Given the description of an element on the screen output the (x, y) to click on. 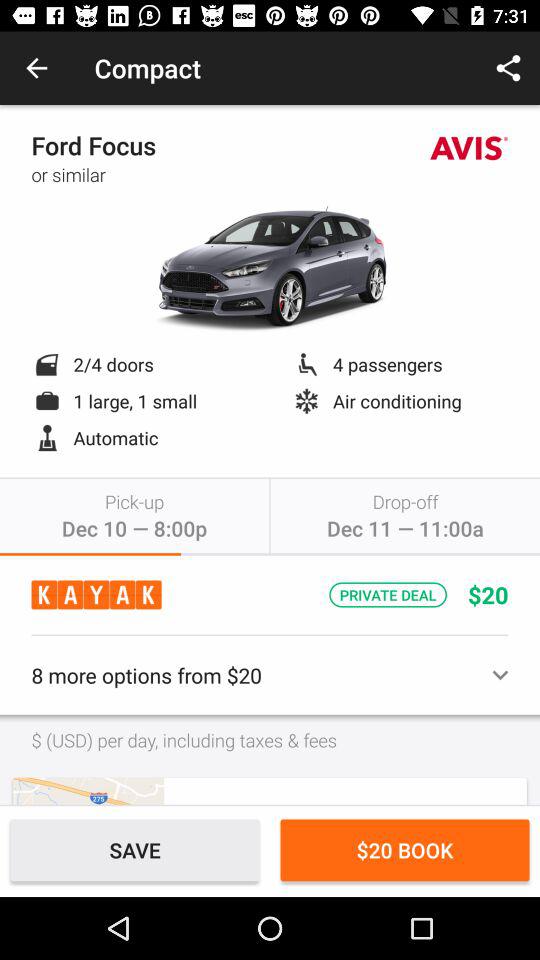
directions to seller (88, 790)
